Given the description of an element on the screen output the (x, y) to click on. 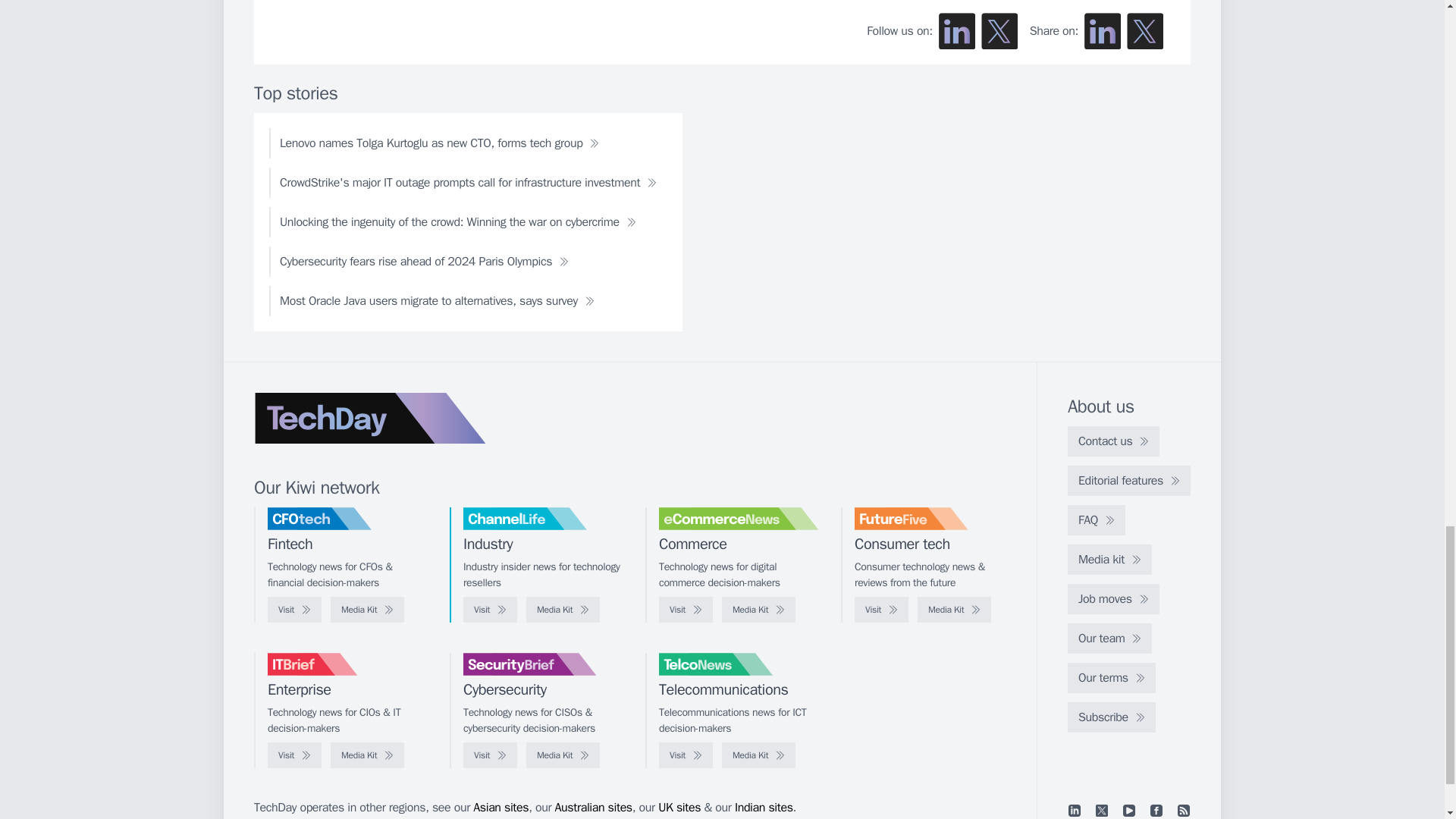
Cybersecurity fears rise ahead of 2024 Paris Olympics (424, 261)
Visit (489, 609)
Visit (686, 609)
Media Kit (367, 609)
Visit (294, 755)
Visit (294, 609)
Media Kit (954, 609)
Lenovo names Tolga Kurtoglu as new CTO, forms tech group (439, 142)
Visit (489, 755)
Visit (881, 609)
Media Kit (367, 755)
Media Kit (562, 755)
Media Kit (562, 609)
